Given the description of an element on the screen output the (x, y) to click on. 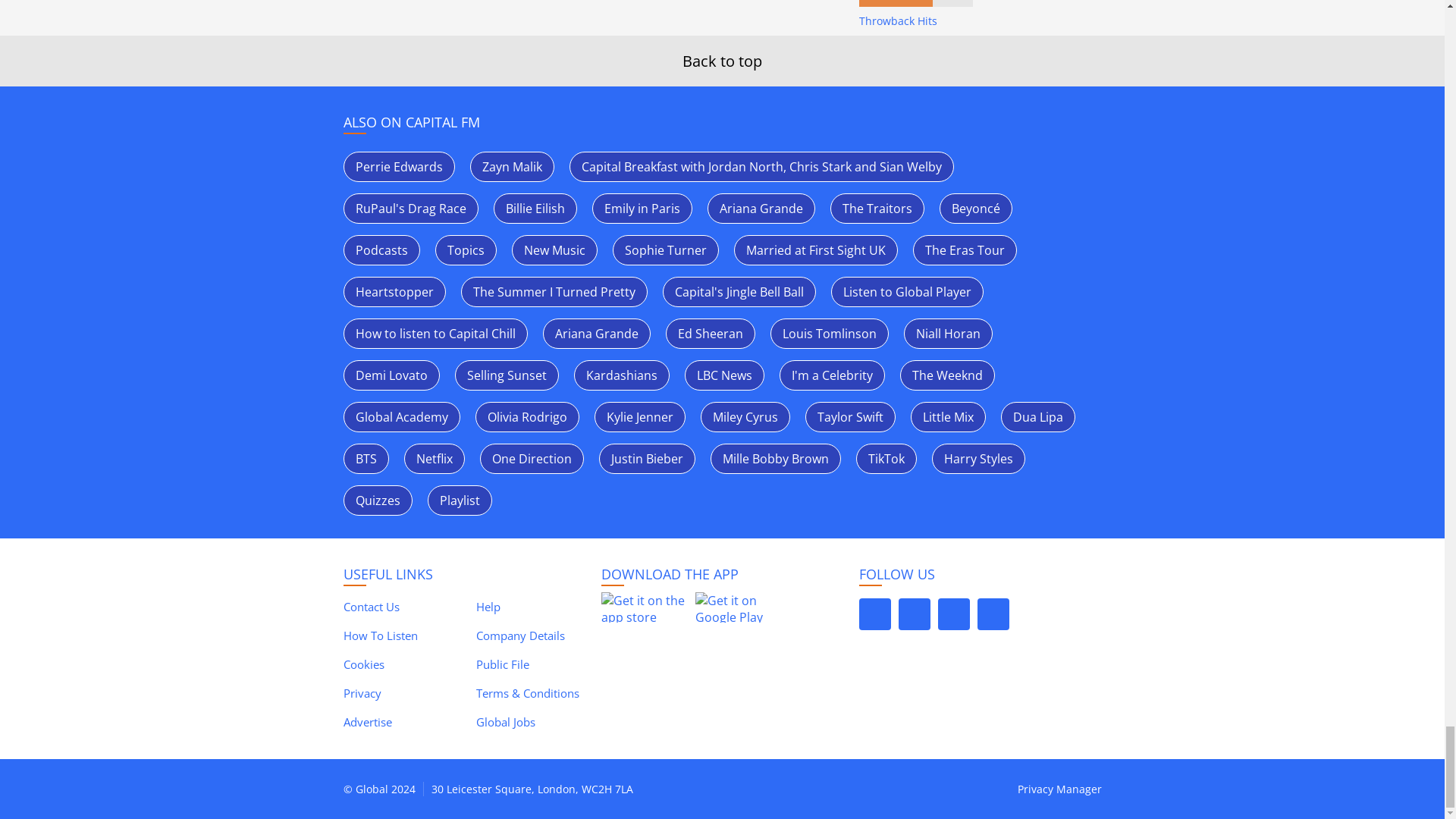
Follow Capital on Youtube (992, 613)
Follow Capital on Facebook (914, 613)
Follow Capital on Instagram (953, 613)
Follow Capital on X (874, 613)
Back to top (721, 60)
